Given the description of an element on the screen output the (x, y) to click on. 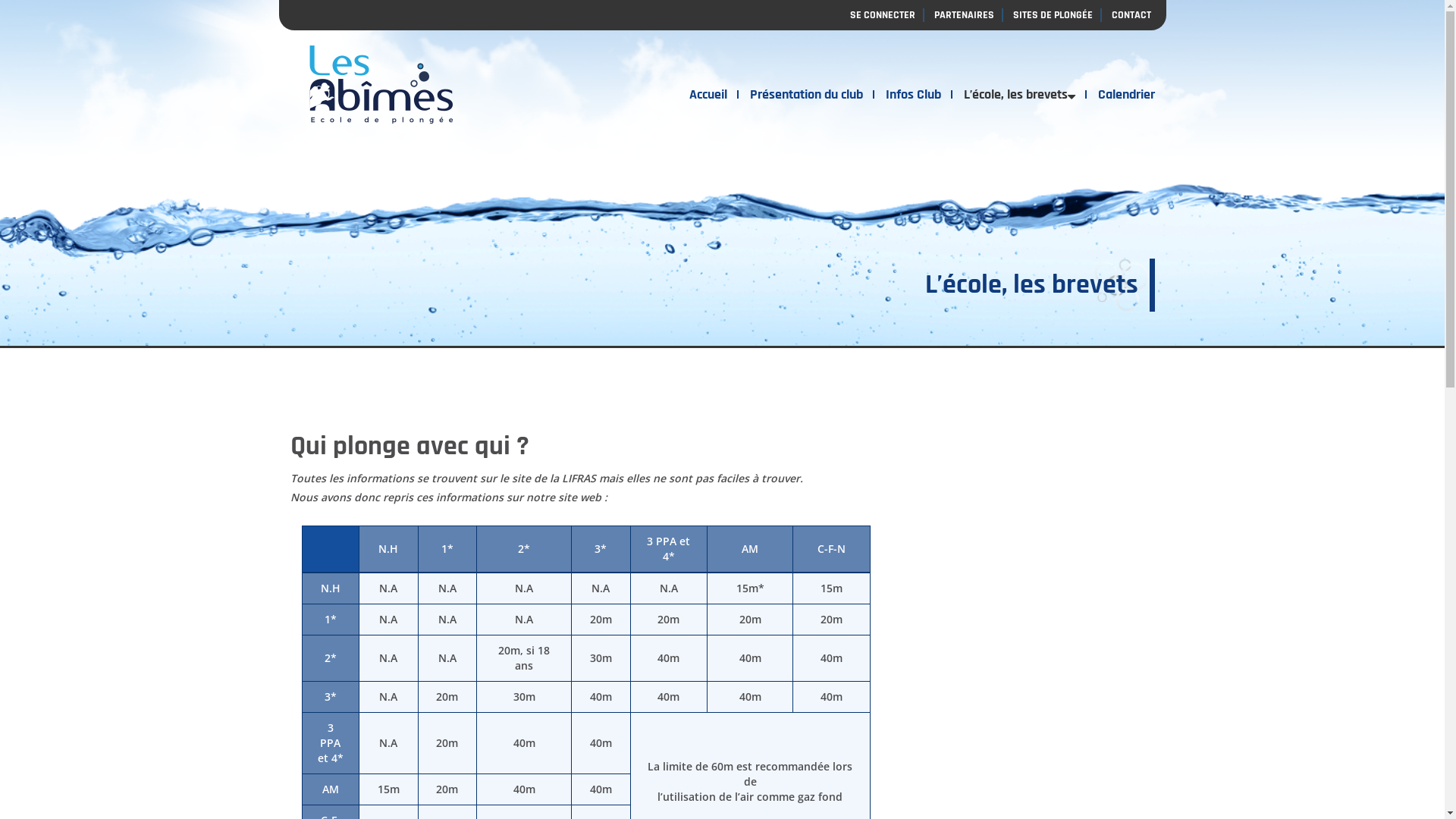
Accueil Element type: text (707, 94)
SE CONNECTER Element type: text (882, 14)
PARTENAIRES Element type: text (964, 14)
Infos Club Element type: text (912, 94)
Calendrier Element type: text (1119, 94)
CONTACT Element type: text (1127, 14)
